Given the description of an element on the screen output the (x, y) to click on. 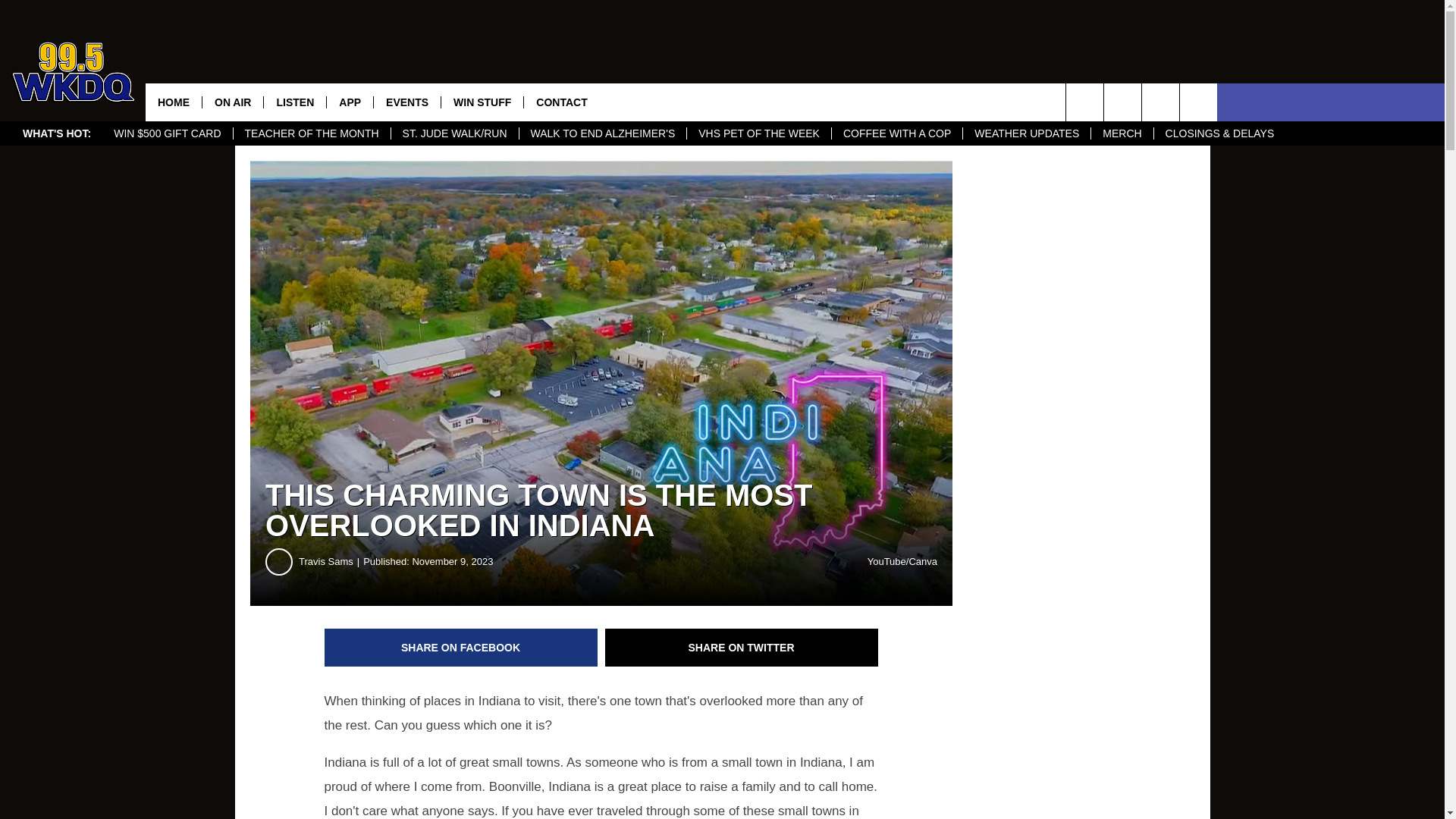
TEACHER OF THE MONTH (310, 133)
WALK TO END ALZHEIMER'S (602, 133)
MERCH (1121, 133)
LISTEN (294, 102)
EVENTS (406, 102)
VHS PET OF THE WEEK (758, 133)
Share on Facebook (460, 647)
ON AIR (232, 102)
HOME (173, 102)
WHAT'S HOT: (56, 133)
